Given the description of an element on the screen output the (x, y) to click on. 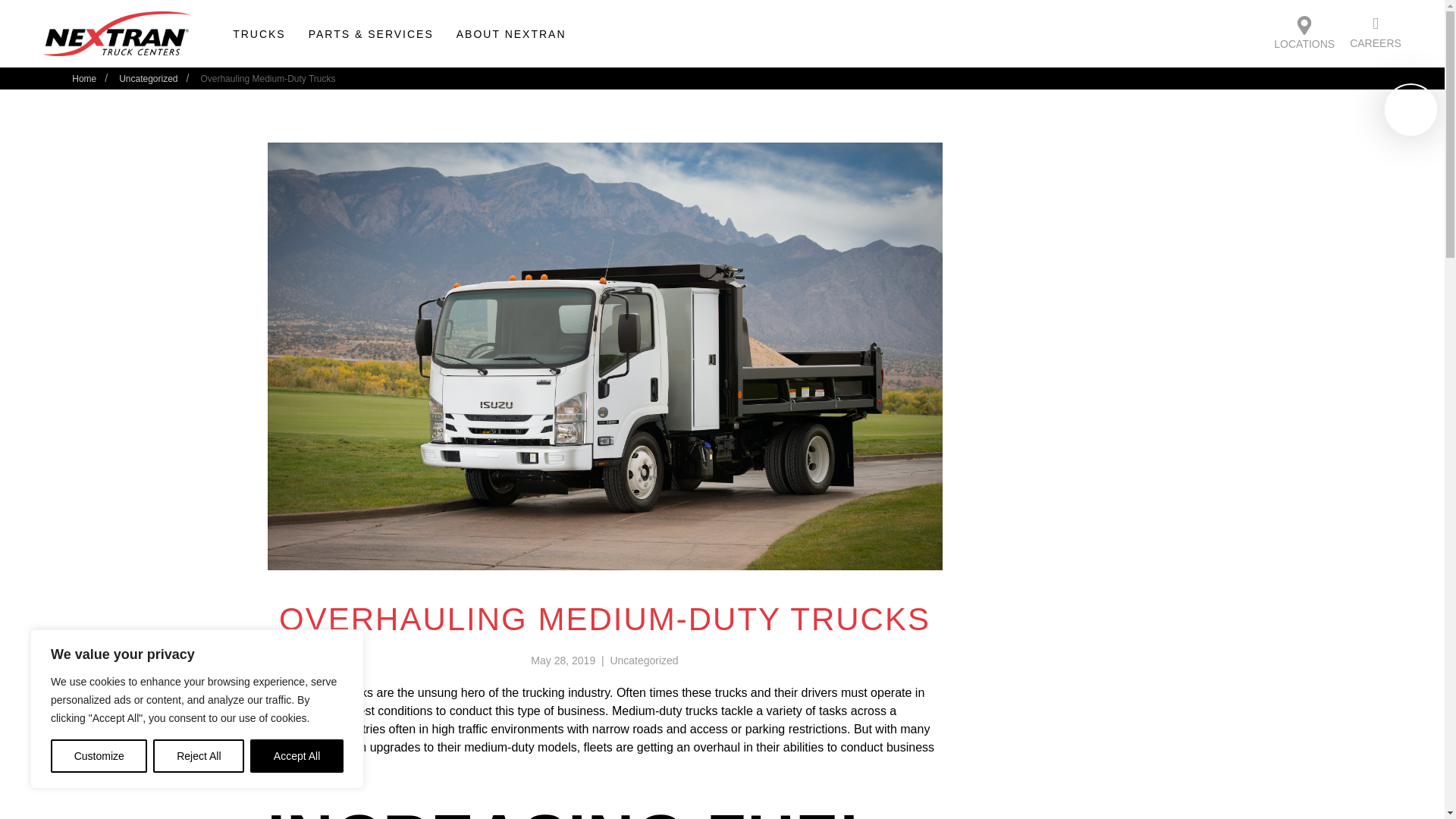
Accept All (296, 756)
Reject All (198, 756)
TRUCKS (259, 33)
Customize (98, 756)
